Given the description of an element on the screen output the (x, y) to click on. 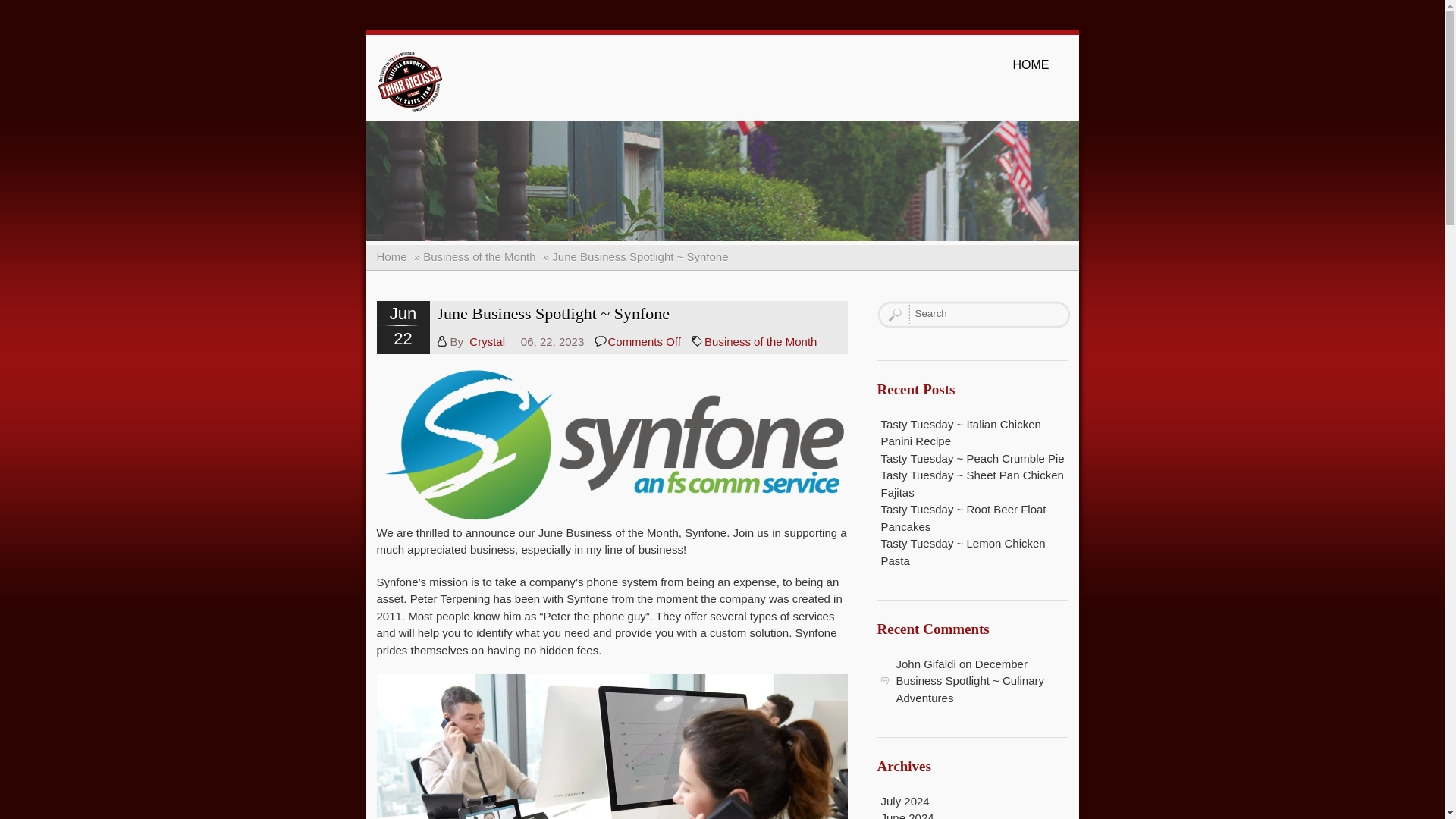
Home (390, 256)
June 2024 (907, 815)
Posts by Crystal (486, 341)
Business of the Month (479, 256)
Business of the Month (760, 341)
HOME (1031, 64)
July 2024 (905, 800)
Search (982, 313)
Crystal (486, 341)
